Given the description of an element on the screen output the (x, y) to click on. 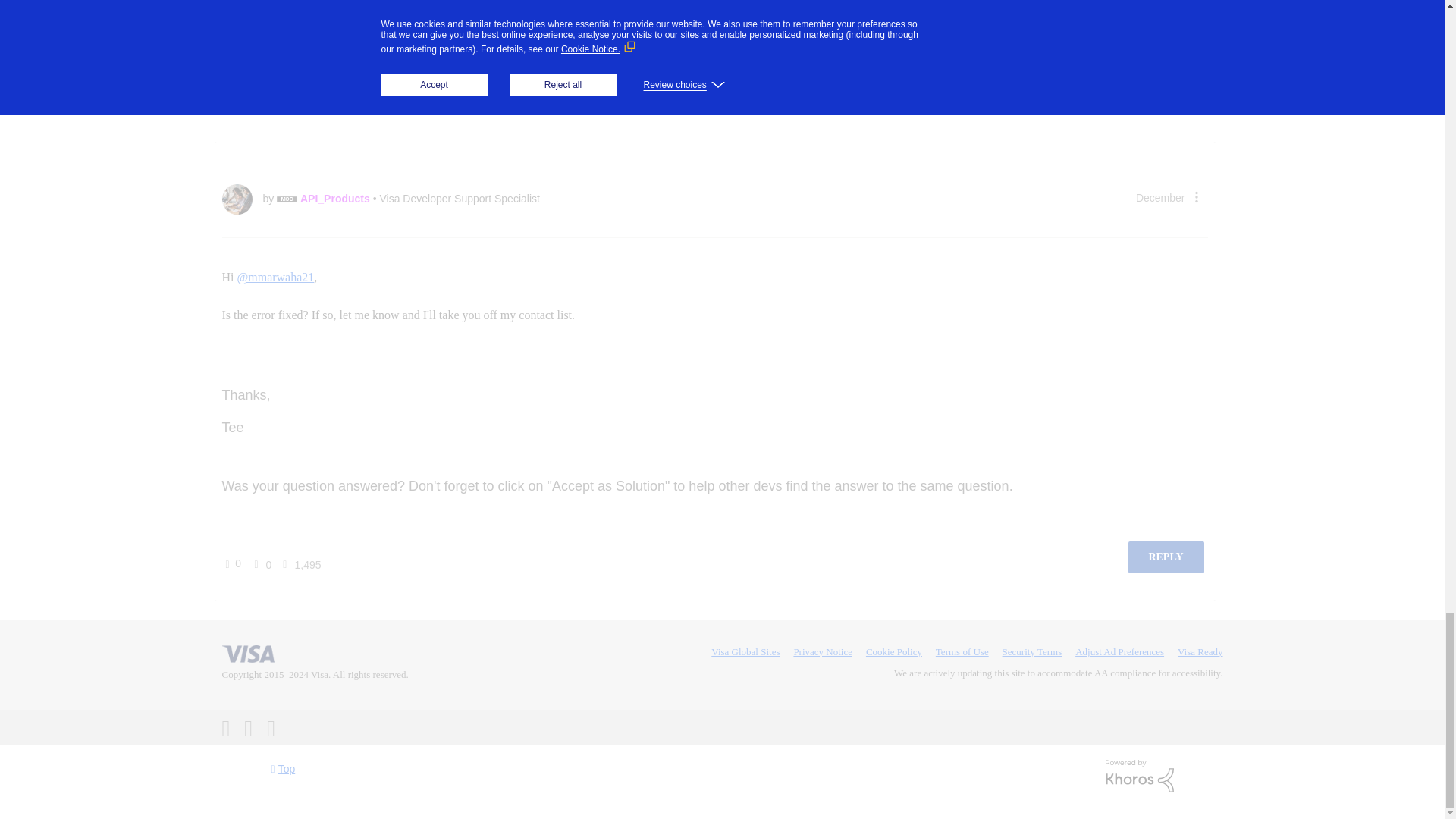
Top (283, 768)
Top (283, 768)
